Given the description of an element on the screen output the (x, y) to click on. 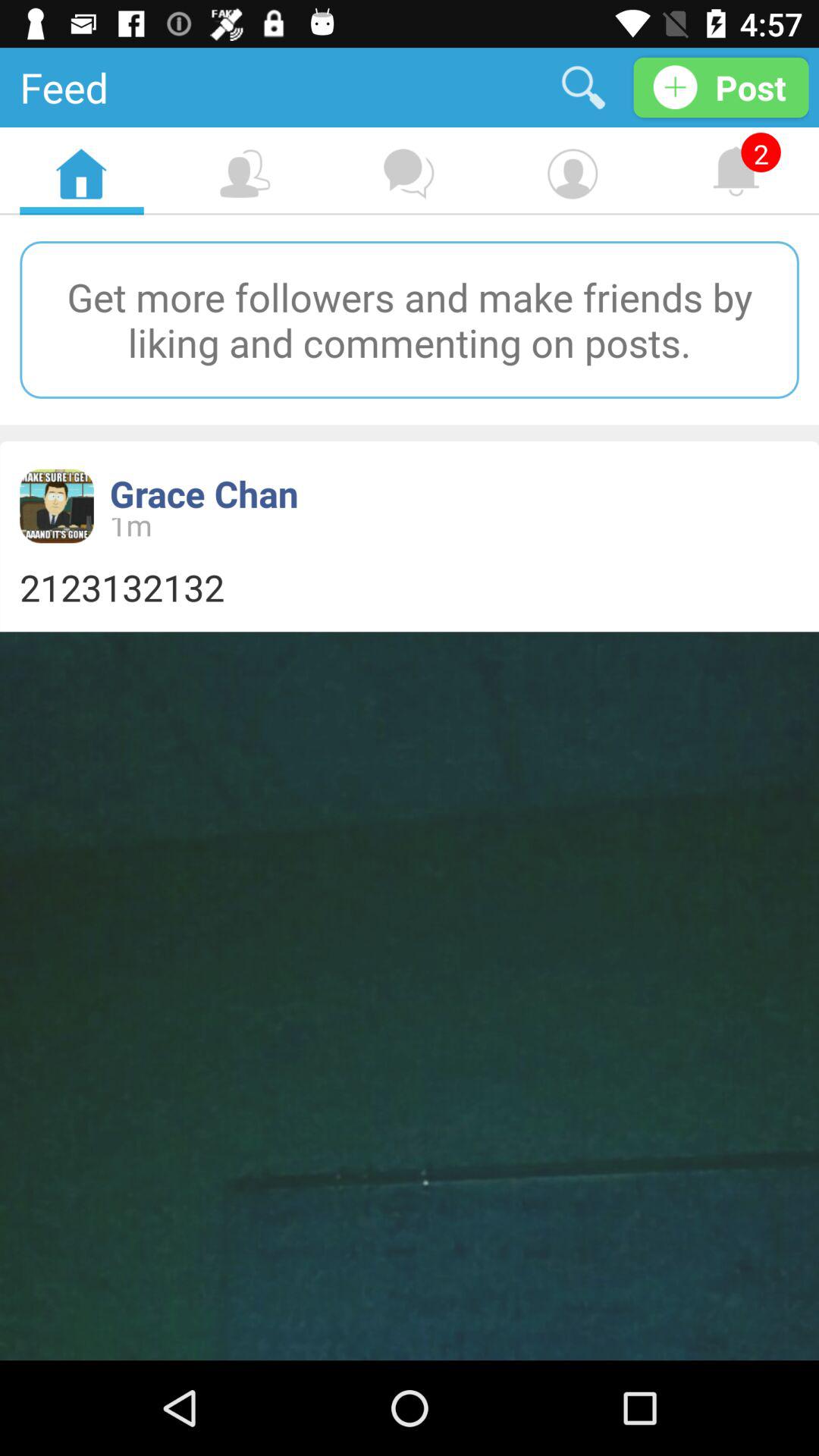
tap the item above the 1m item (203, 493)
